Given the description of an element on the screen output the (x, y) to click on. 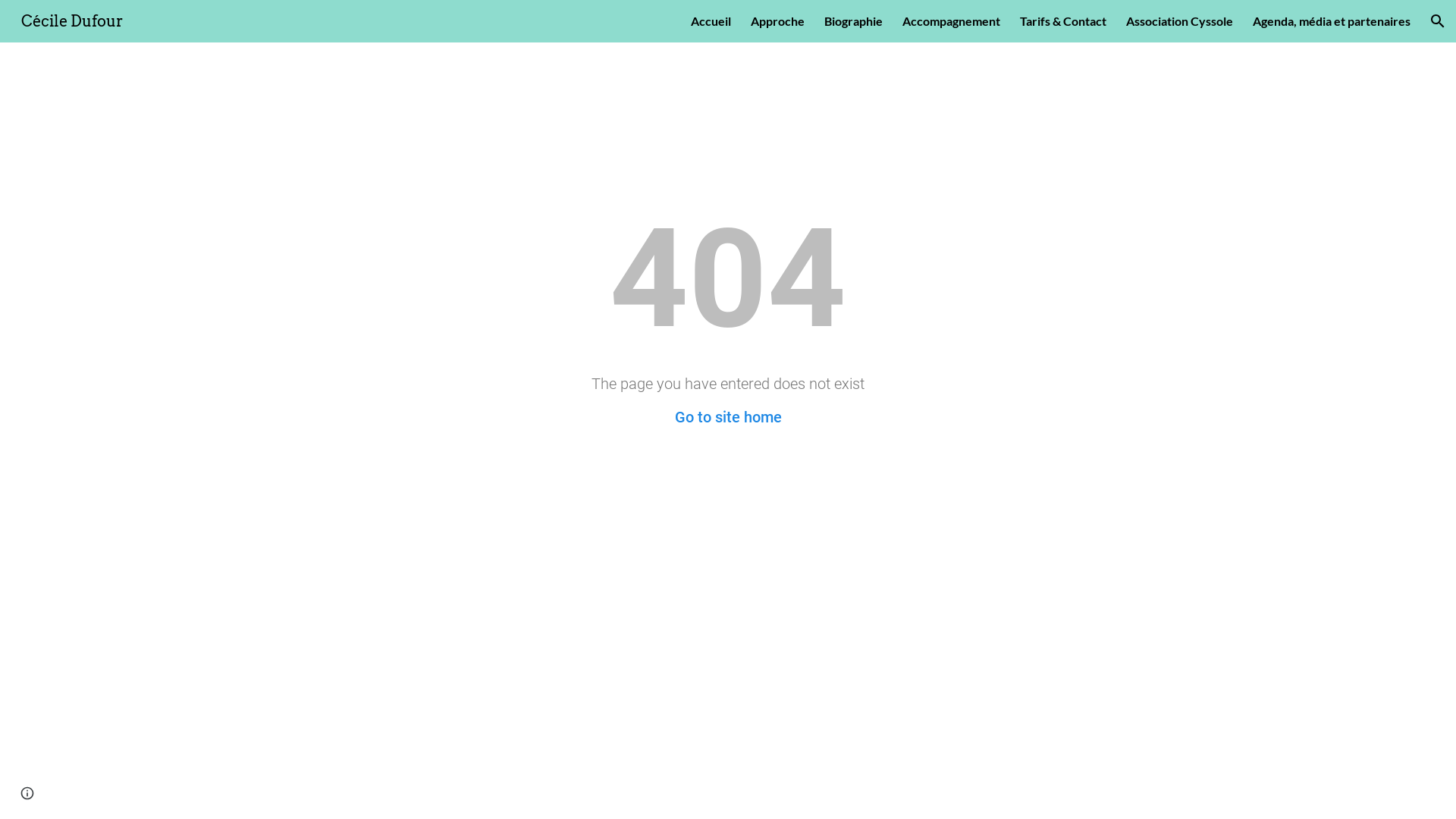
Biographie Element type: text (853, 20)
Accueil Element type: text (710, 20)
Go to site home Element type: text (727, 416)
Approche Element type: text (777, 20)
Accompagnement Element type: text (951, 20)
Tarifs & Contact Element type: text (1062, 20)
Association Cyssole Element type: text (1179, 20)
